Given the description of an element on the screen output the (x, y) to click on. 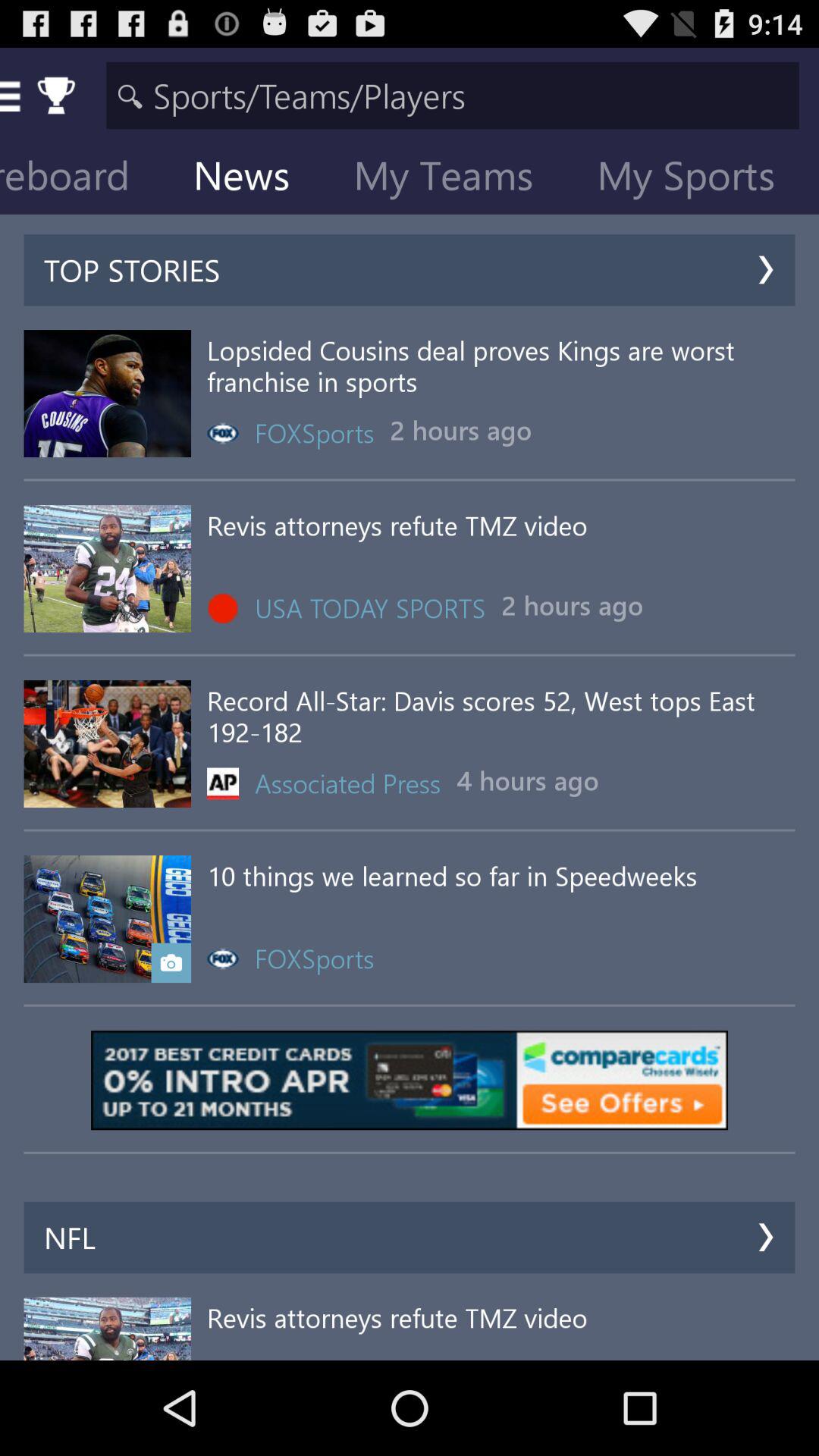
open the scoreboard item (86, 178)
